Given the description of an element on the screen output the (x, y) to click on. 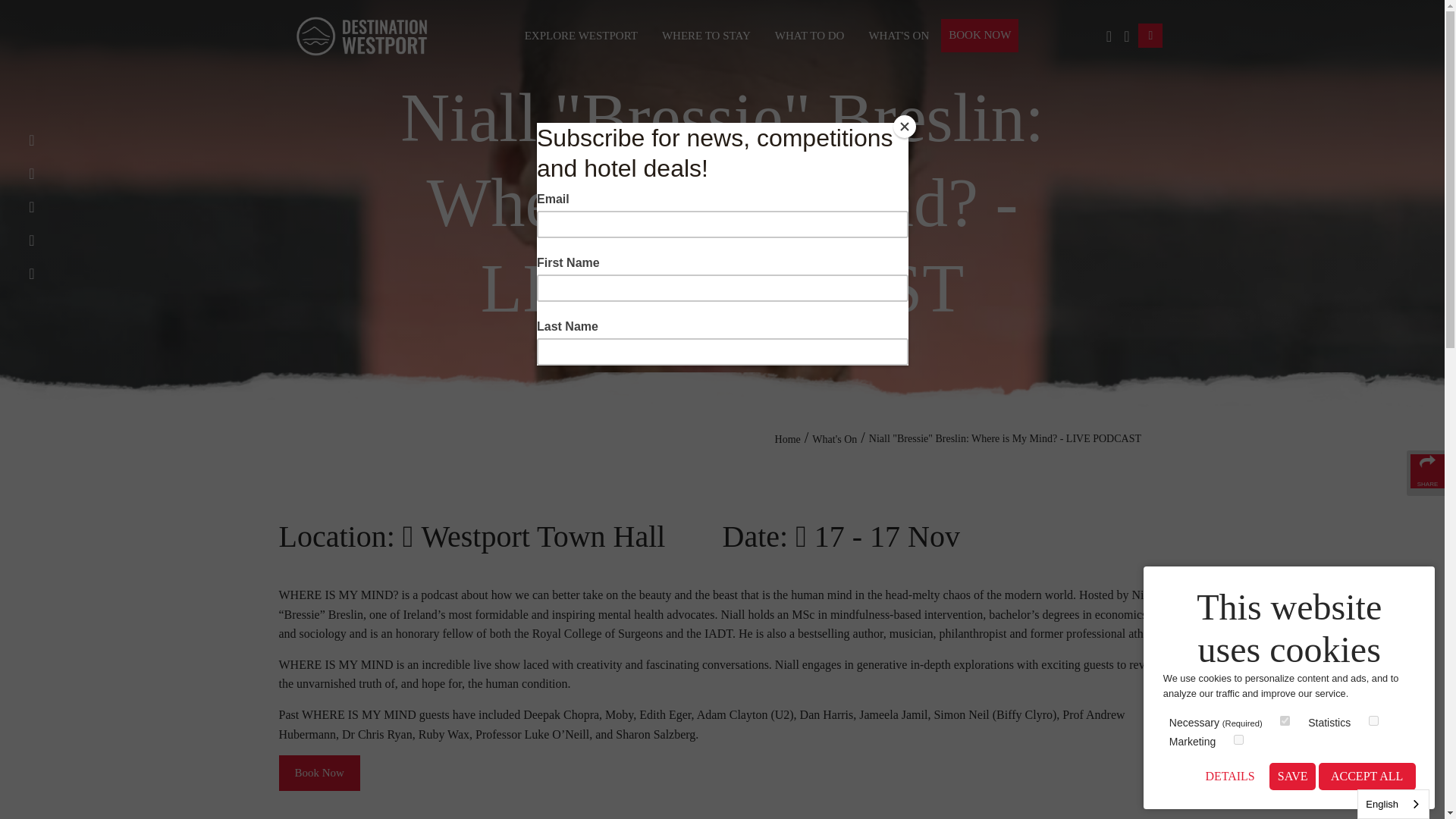
WHAT TO DO (809, 36)
on (1373, 720)
on (1284, 720)
on (1238, 739)
WHAT'S ON (898, 36)
WHERE TO STAY (705, 36)
EXPLORE WESTPORT (580, 36)
BOOK NOW (978, 35)
